Given the description of an element on the screen output the (x, y) to click on. 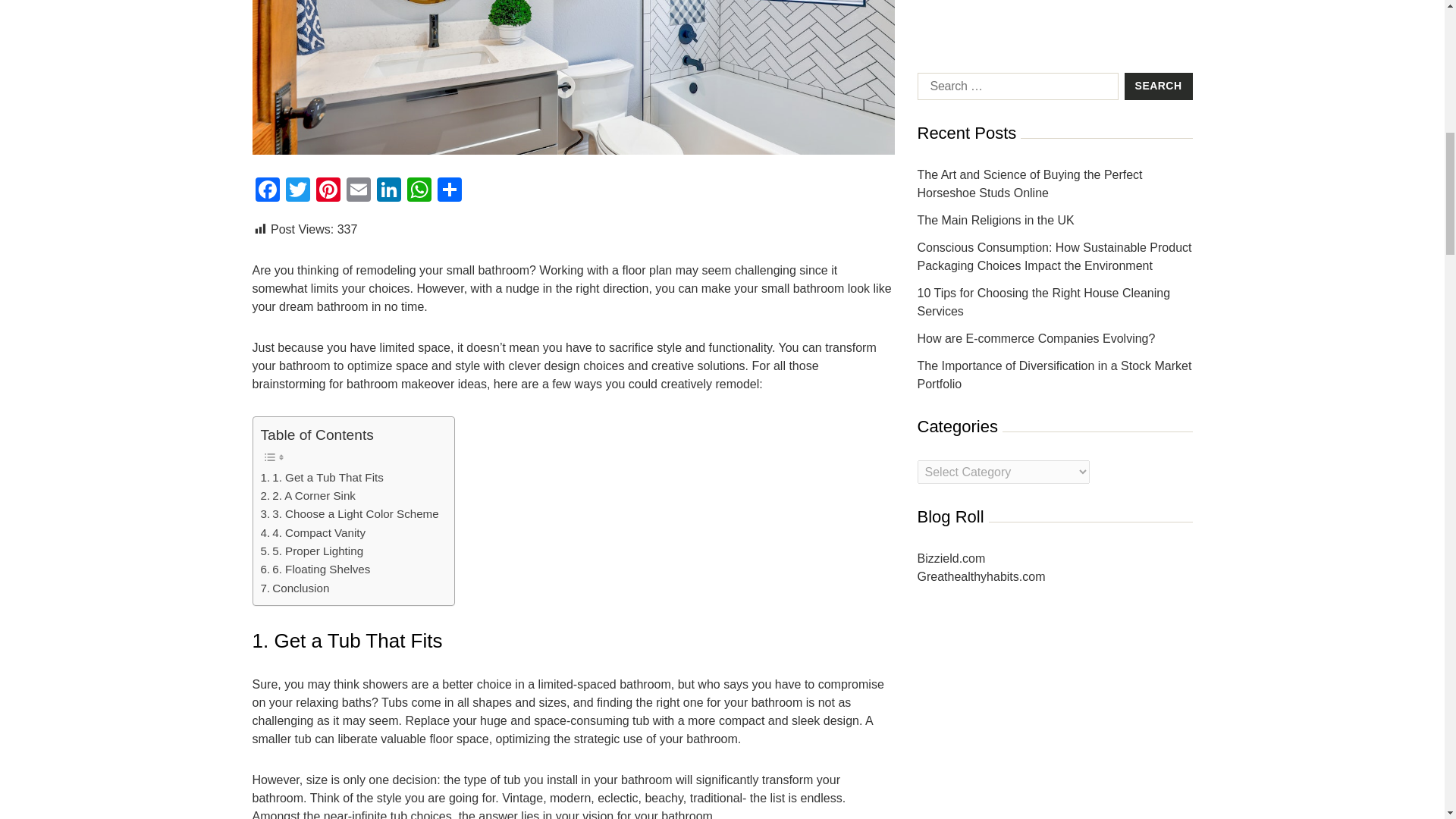
WhatsApp (418, 191)
2. A Corner Sink (307, 495)
Facebook (266, 191)
6. Floating Shelves (315, 569)
LinkedIn (387, 191)
Twitter (297, 191)
Conclusion  (295, 588)
1. Get a Tub That Fits (322, 477)
Twitter (297, 191)
3. Choose a Light Color Scheme (349, 514)
Facebook (266, 191)
Email (357, 191)
Pinterest (327, 191)
4. Compact Vanity (313, 533)
5. Proper Lighting (312, 551)
